Given the description of an element on the screen output the (x, y) to click on. 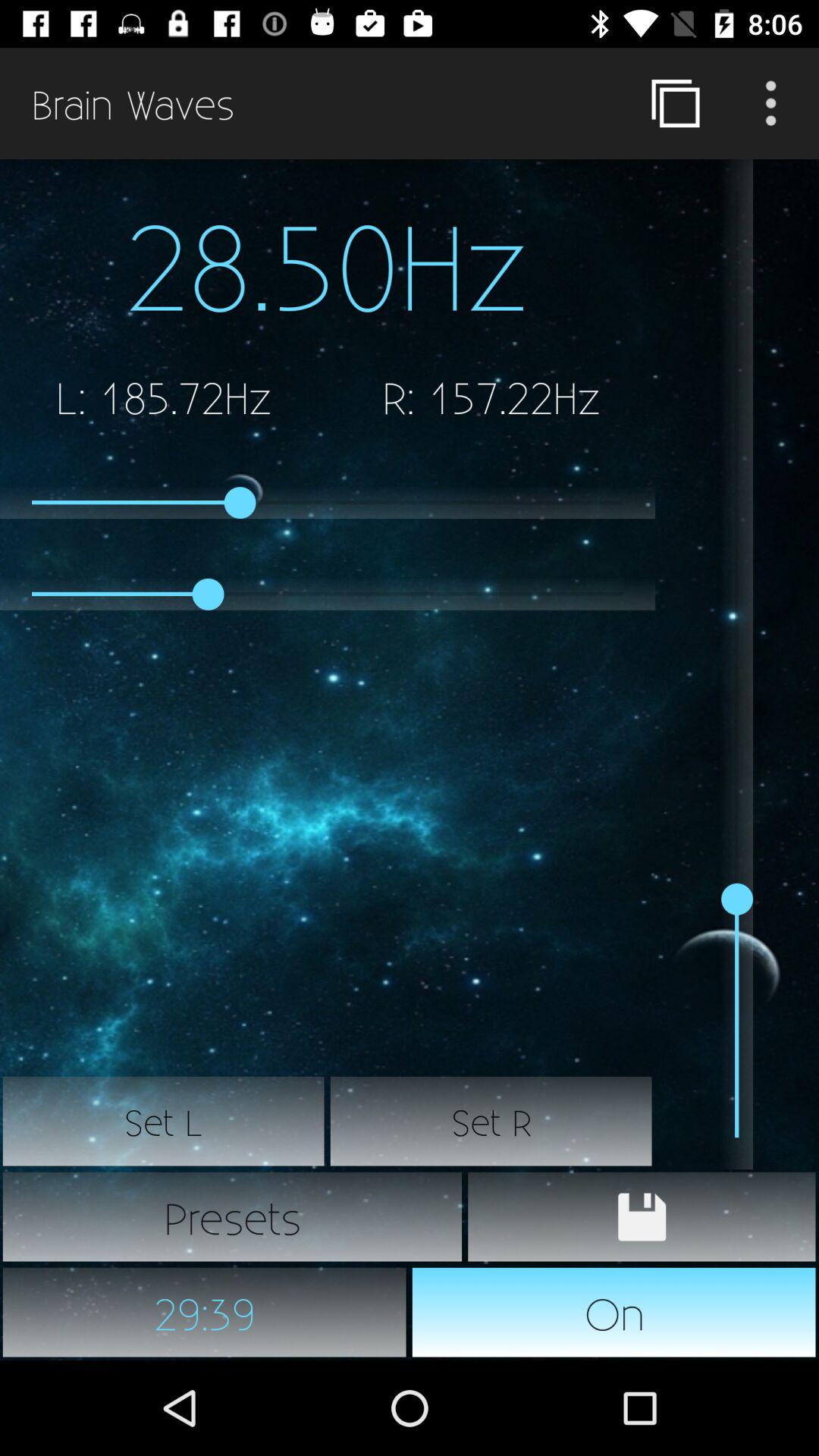
choose item next to brain waves icon (675, 103)
